Given the description of an element on the screen output the (x, y) to click on. 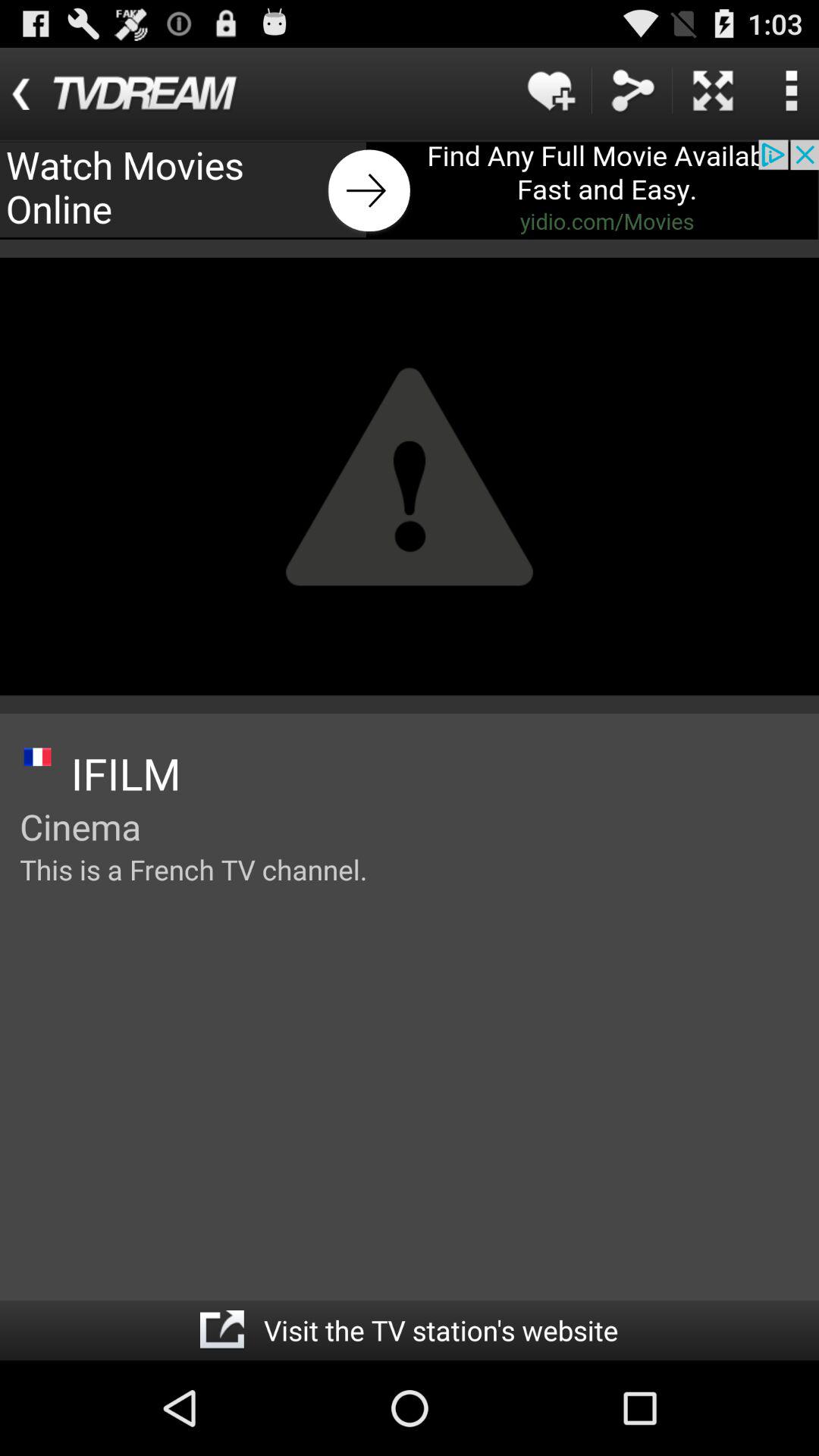
expand page (712, 90)
